Given the description of an element on the screen output the (x, y) to click on. 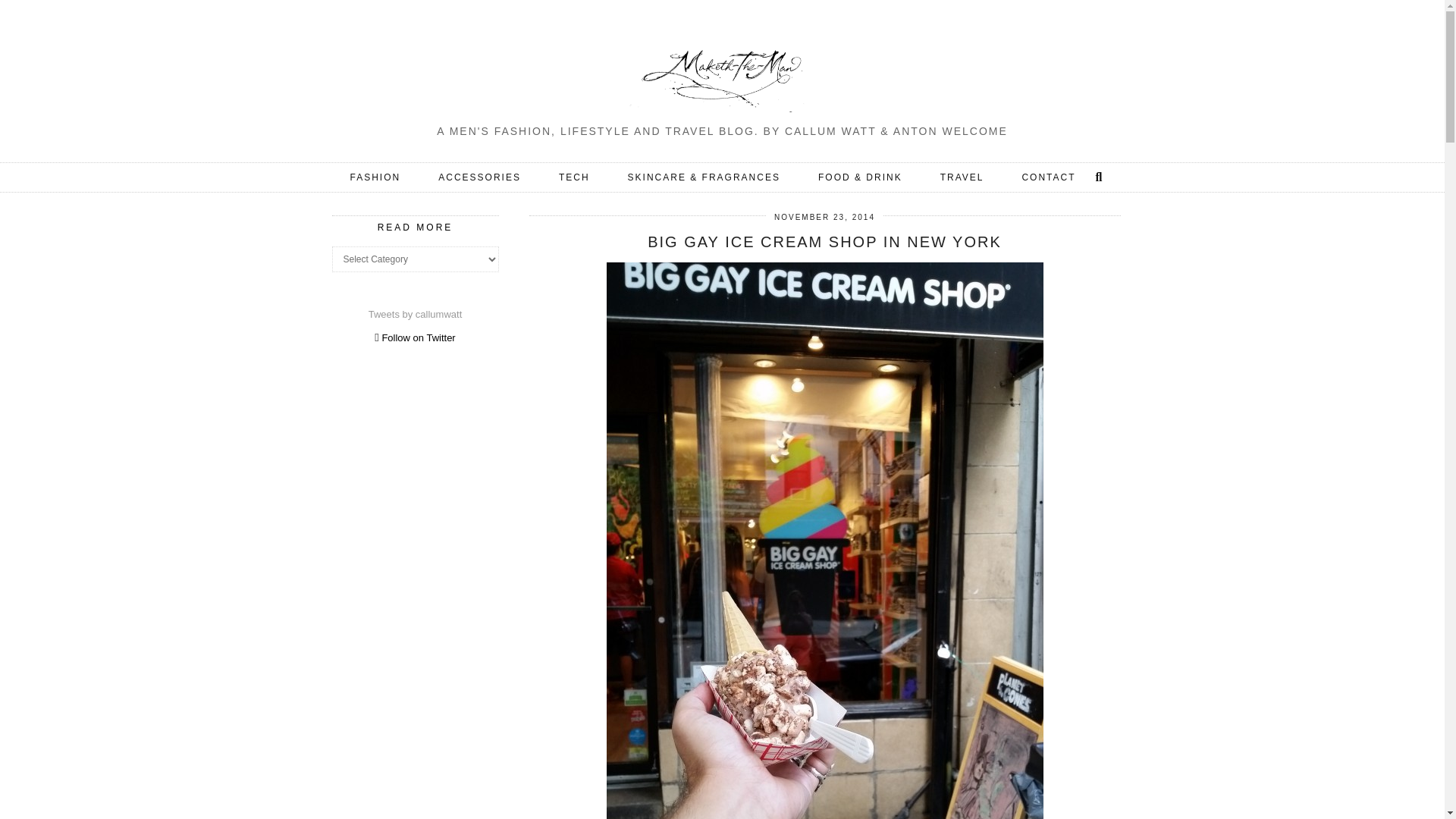
CONTACT (1048, 176)
ACCESSORIES (479, 176)
FASHION (375, 176)
TECH (574, 176)
TRAVEL (962, 176)
